Given the description of an element on the screen output the (x, y) to click on. 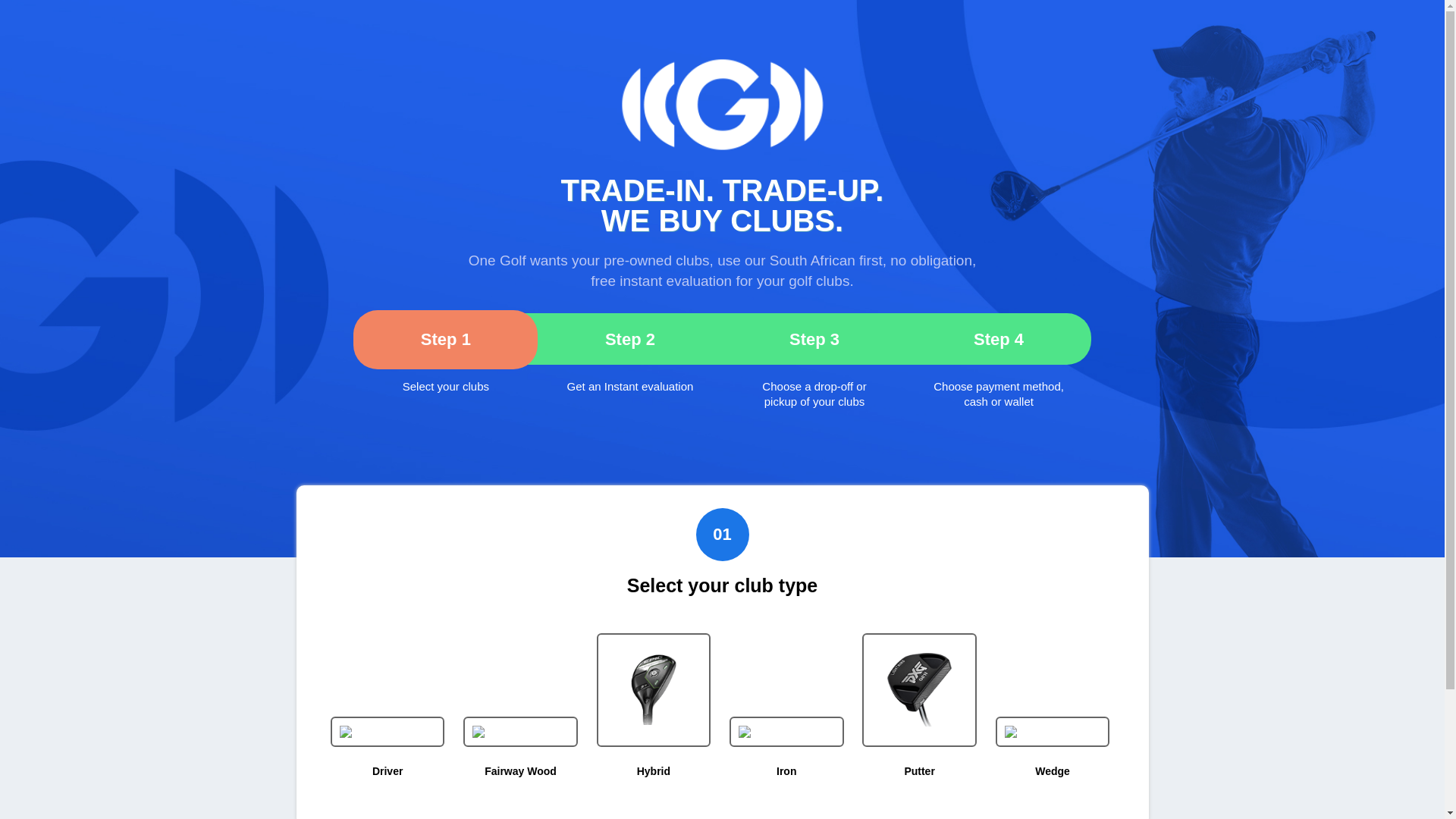
Wedge (1052, 770)
Driver (387, 770)
Putter (919, 770)
Hybrid (653, 770)
Iron (786, 770)
Fairway Wood (520, 770)
